Given the description of an element on the screen output the (x, y) to click on. 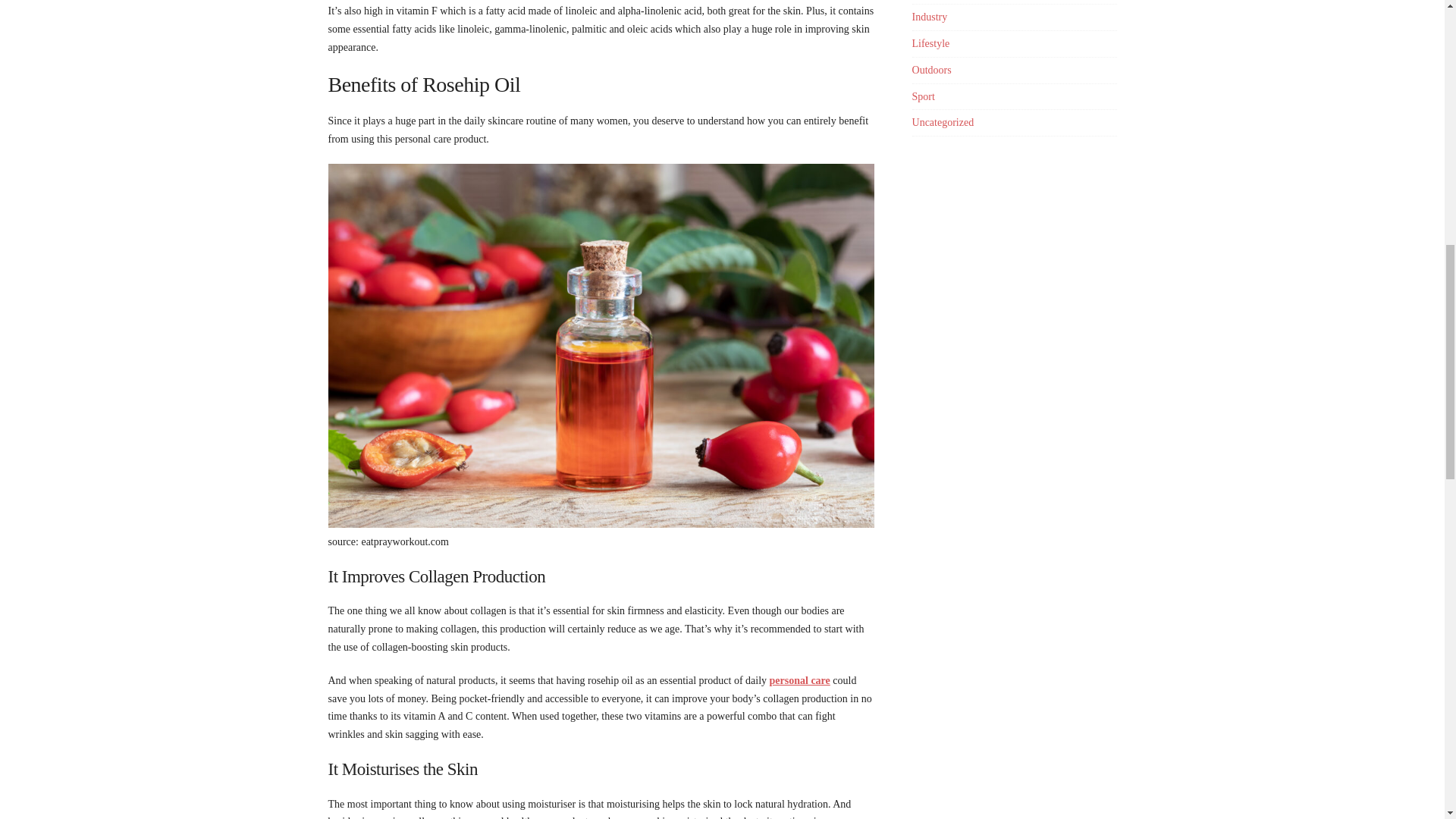
Uncategorized (943, 122)
Outdoors (932, 70)
Lifestyle (931, 43)
personal care (799, 680)
Industry (929, 16)
Sport (923, 96)
